Given the description of an element on the screen output the (x, y) to click on. 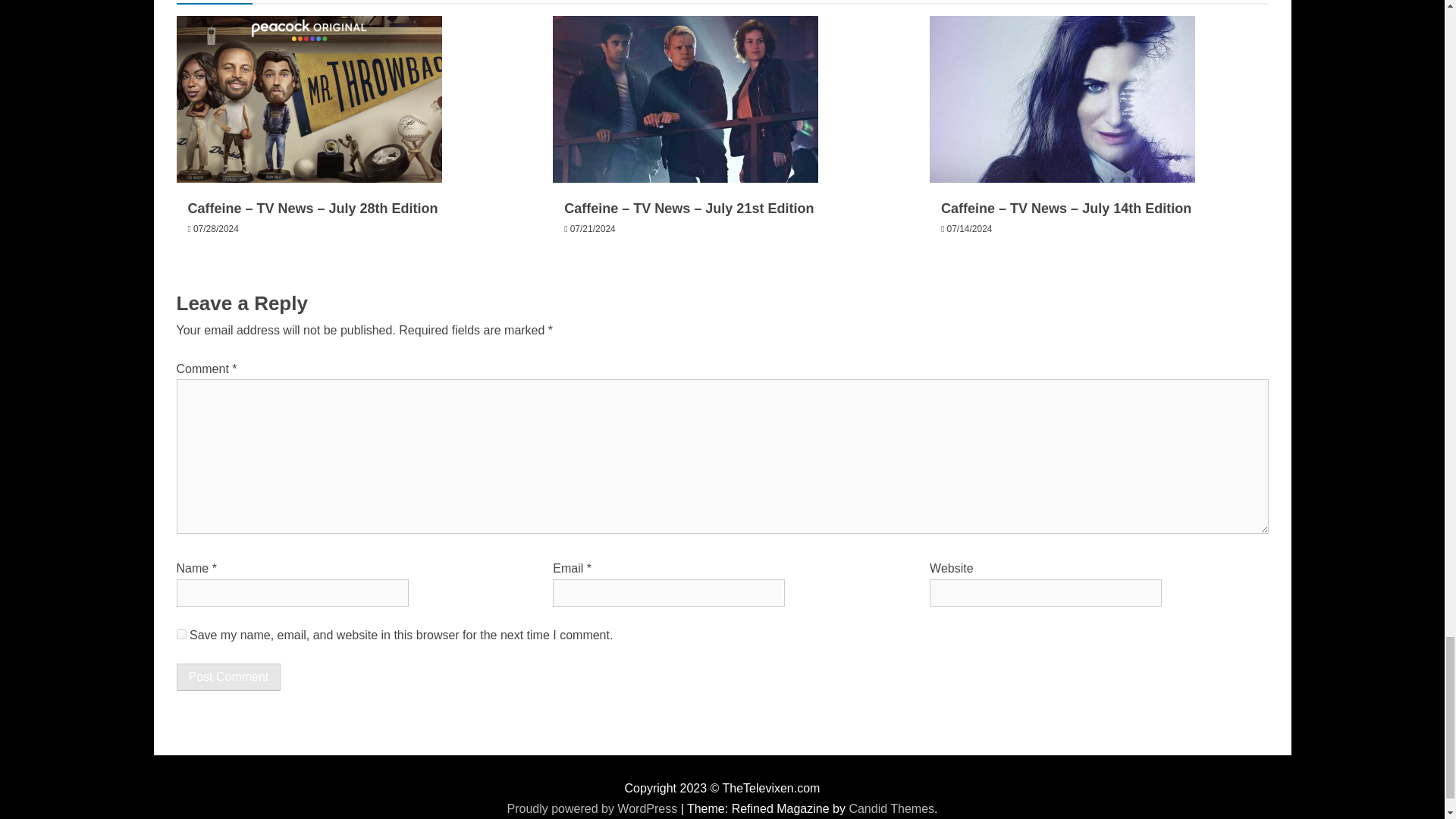
yes (181, 634)
Post Comment (228, 677)
